Given the description of an element on the screen output the (x, y) to click on. 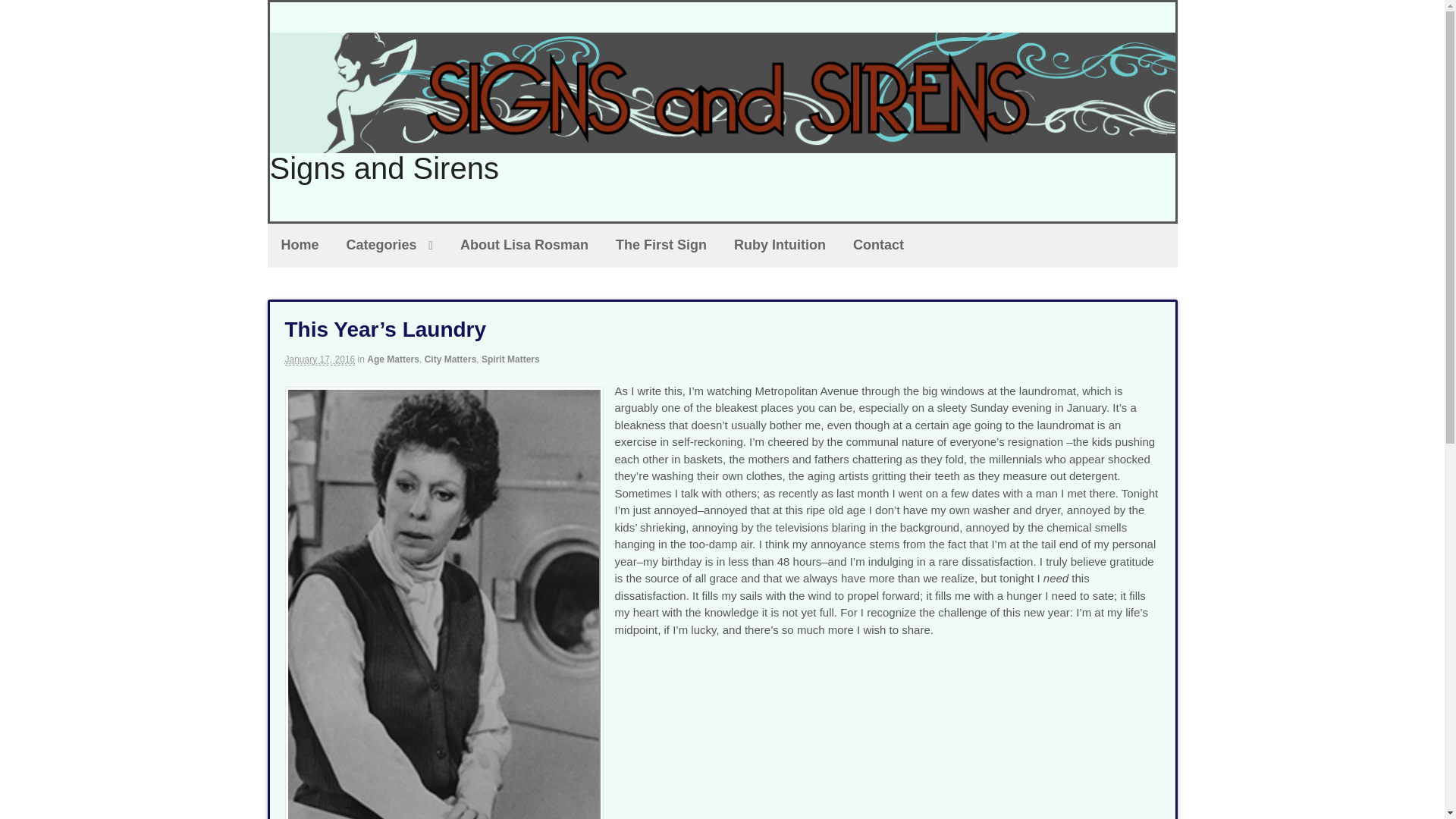
About Lisa Rosman (524, 245)
Categories (389, 245)
Home (298, 245)
Ruby Intuition (780, 245)
View all items in City Matters (451, 358)
View all items in Age Matters (392, 358)
2016-01-17T18:45:27-0500 (320, 359)
View all items in Spirit Matters (510, 358)
Signs and Sirens (384, 168)
The First Sign (661, 245)
